Given the description of an element on the screen output the (x, y) to click on. 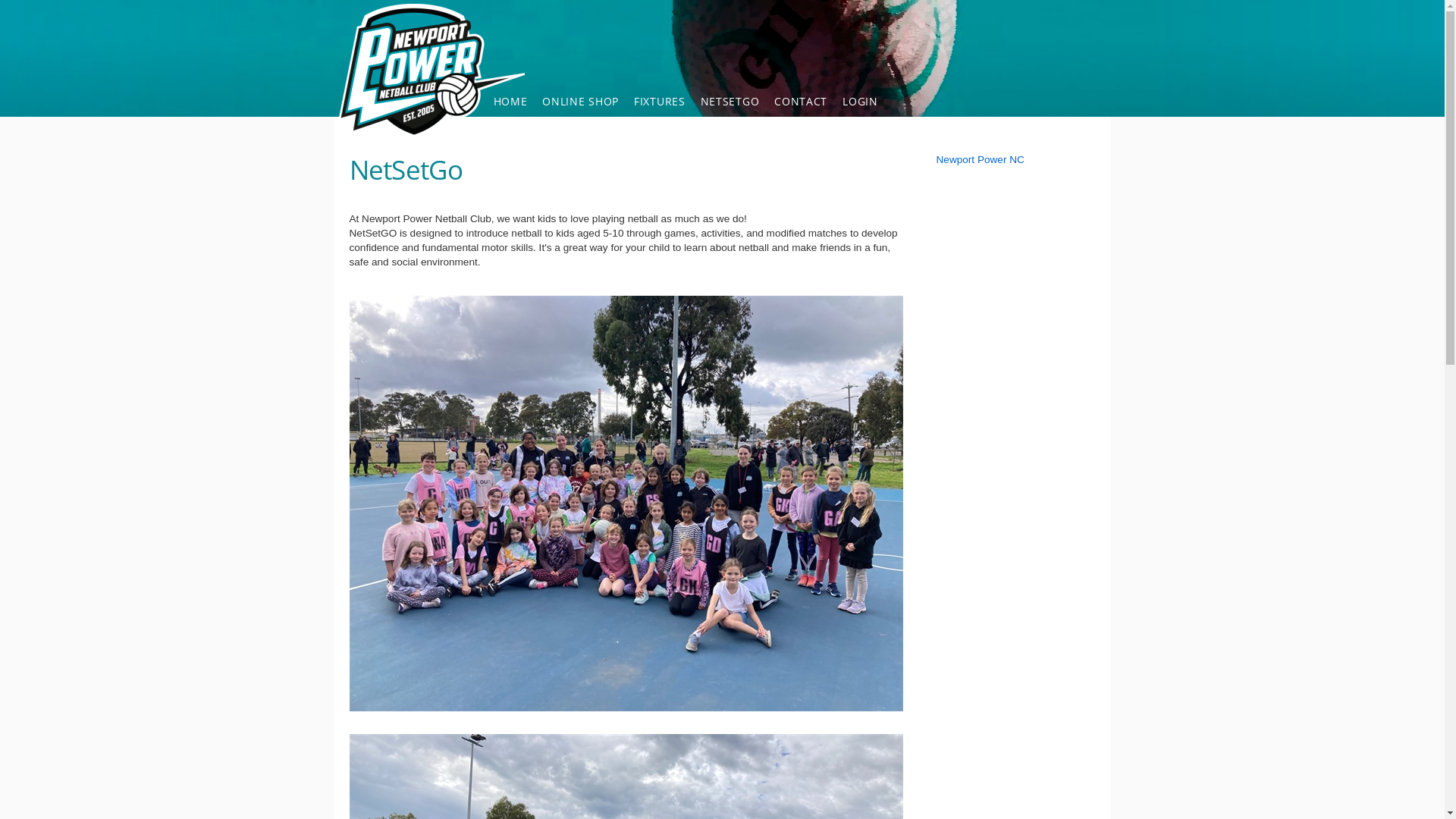
LOGIN Element type: text (859, 101)
FIXTURES Element type: text (659, 101)
ONLINE SHOP Element type: text (580, 101)
NETSETGO Element type: text (730, 101)
CONTACT Element type: text (800, 101)
HOME Element type: text (509, 101)
Newport Power NC Element type: text (979, 159)
